Given the description of an element on the screen output the (x, y) to click on. 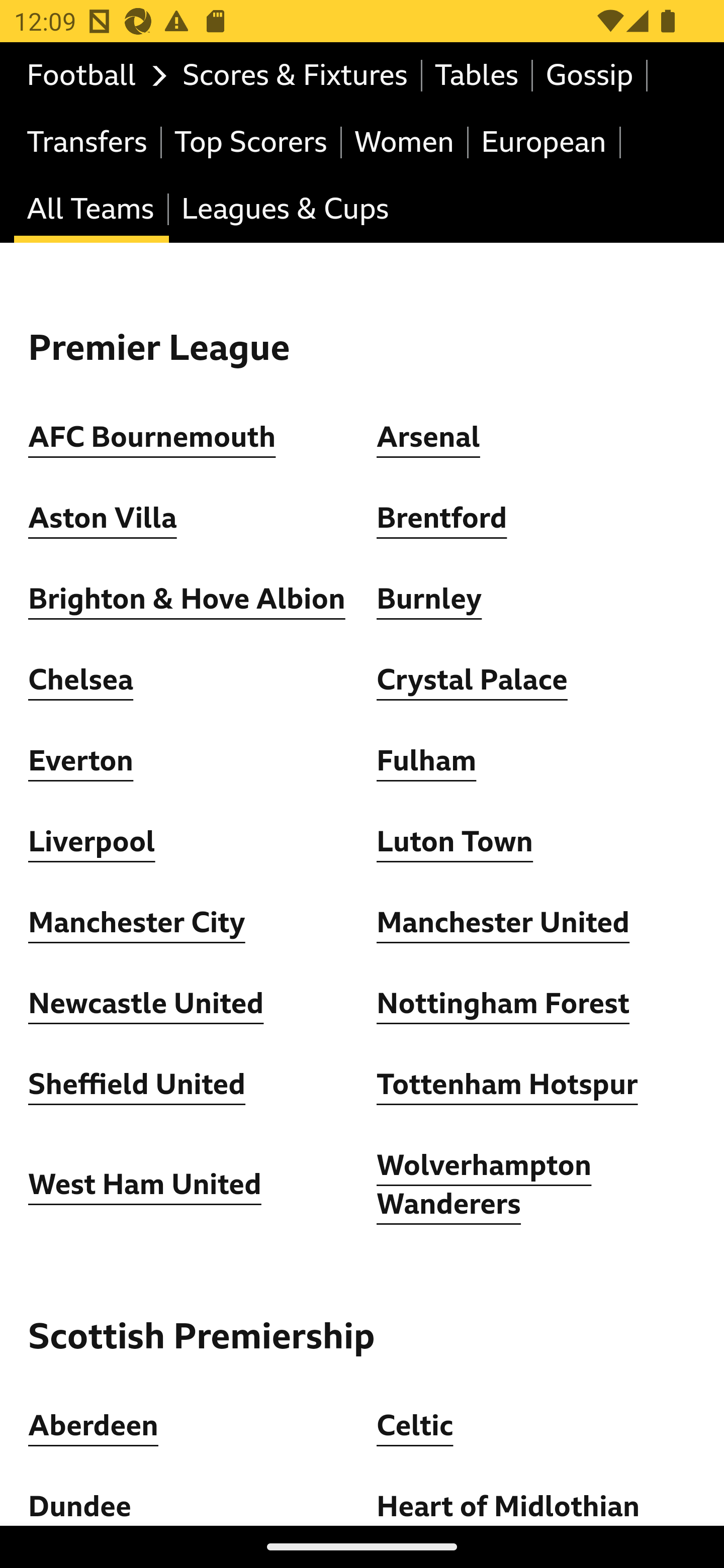
AFC Bournemouth (151, 437)
Arsenal (428, 437)
Aston Villa (102, 518)
Brentford (442, 518)
Brighton & Hove Albion (187, 599)
Burnley (429, 599)
Chelsea (80, 680)
Crystal Palace (472, 680)
Everton (80, 761)
Fulham (426, 761)
Liverpool (92, 841)
Luton Town (455, 841)
Manchester City (137, 923)
Manchester United (503, 923)
Newcastle United (146, 1004)
Nottingham Forest (503, 1004)
Sheffield United (137, 1084)
Tottenham Hotspur (507, 1084)
Wolverhampton Wanderers (484, 1184)
West Ham United (145, 1185)
Aberdeen (94, 1426)
Celtic (414, 1426)
Dundee (79, 1506)
Heart of Midlothian (508, 1506)
